Given the description of an element on the screen output the (x, y) to click on. 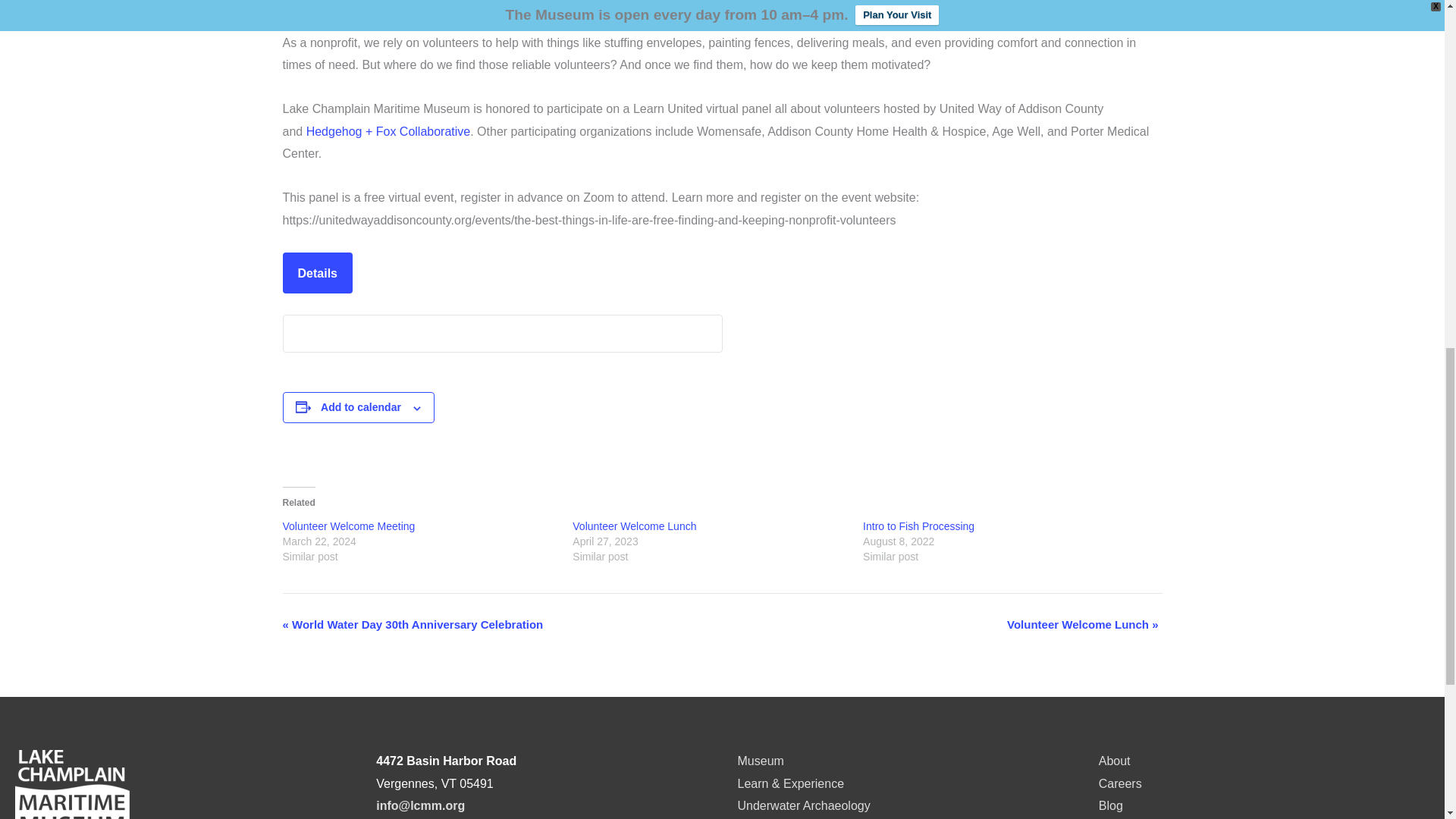
Volunteer Welcome Lunch (633, 526)
Volunteer Welcome Meeting (348, 526)
Intro to Fish Processing (918, 526)
